Given the description of an element on the screen output the (x, y) to click on. 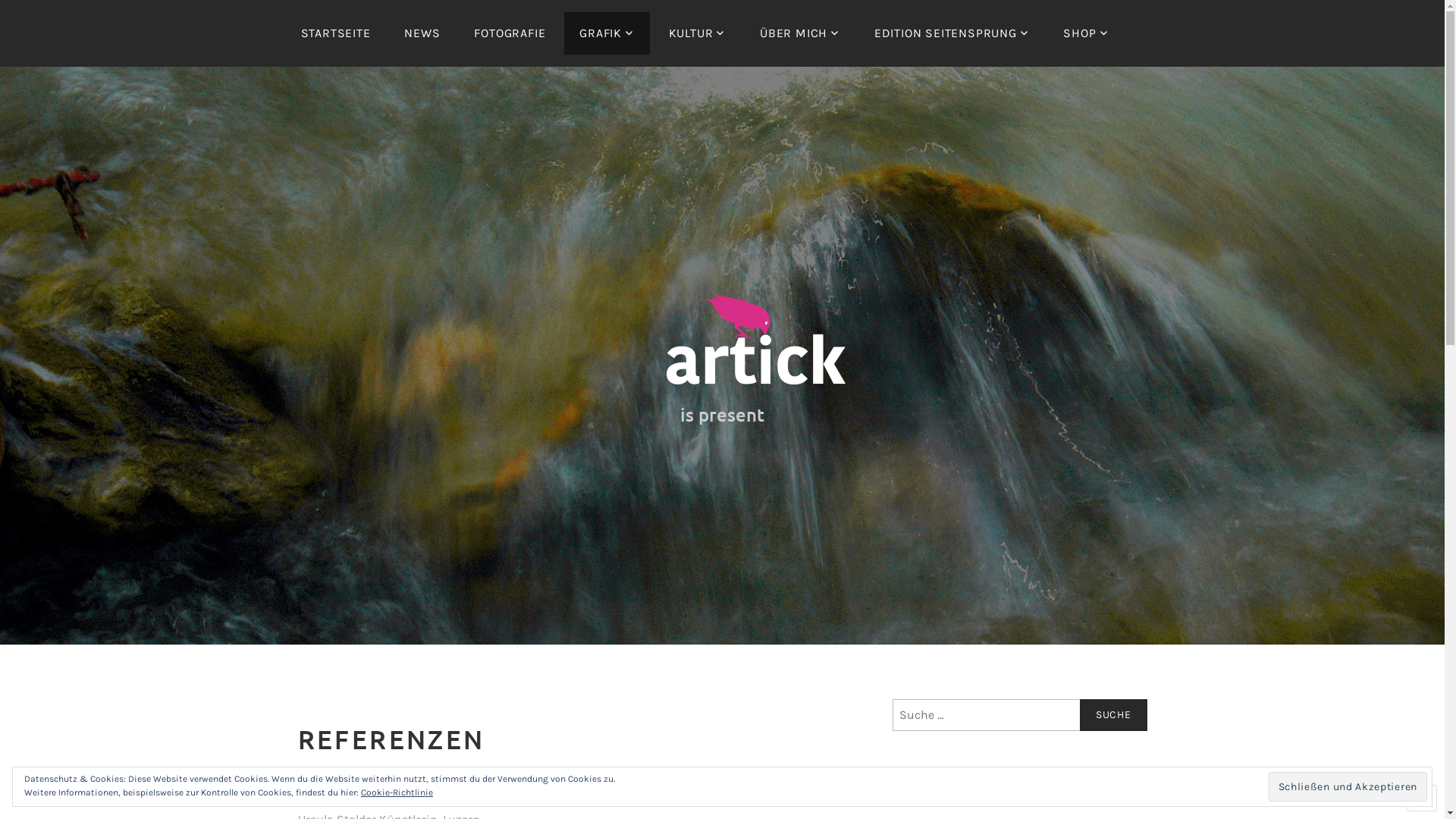
SHOP Element type: text (1085, 33)
EDITION SEITENSPRUNG Element type: text (951, 33)
NEWS Element type: text (422, 33)
STARTSEITE Element type: text (335, 33)
Suche Element type: text (1113, 715)
KULTUR Element type: text (697, 33)
Cookie-Richtlinie Element type: text (396, 793)
Verein Kirchliche Gassenarbeit, Luzern Element type: text (402, 783)
Verein Pro Stadtbibliothek, Kriens Element type: text (390, 801)
FOTOGRAFIE Element type: text (509, 33)
GRAFIK Element type: text (606, 33)
